Given the description of an element on the screen output the (x, y) to click on. 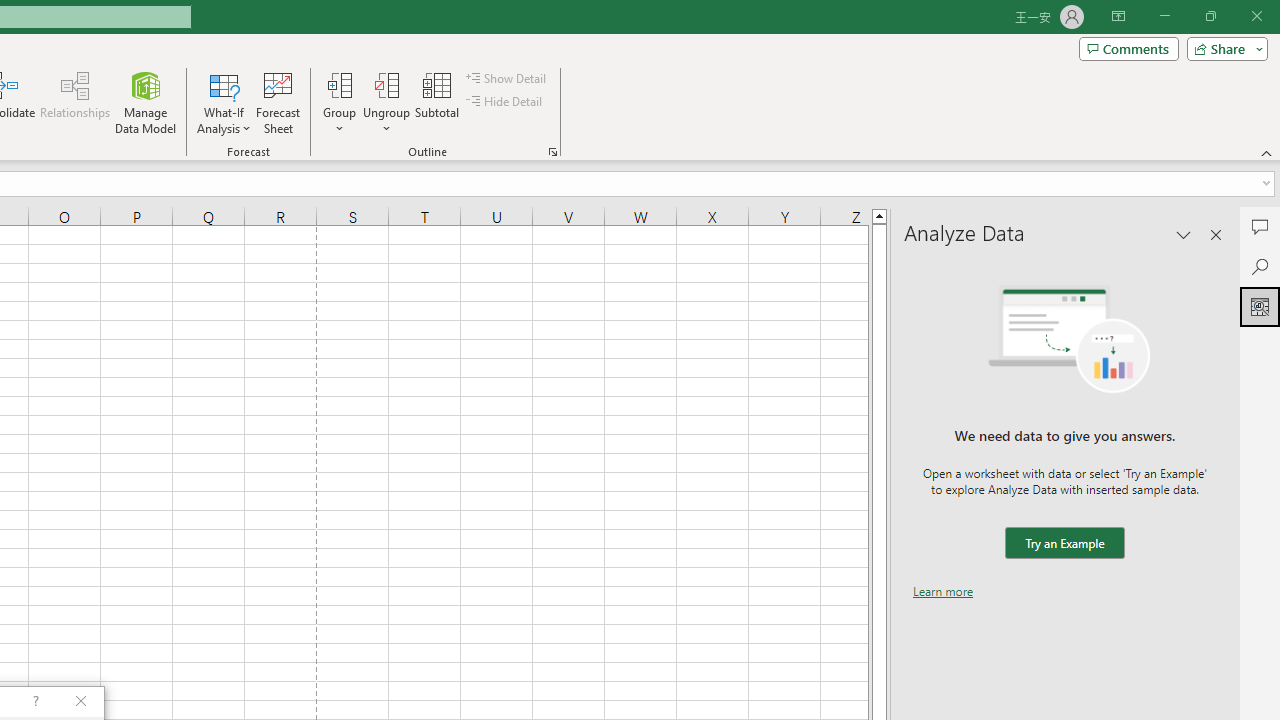
What-If Analysis (223, 102)
Ungroup... (386, 102)
We need data to give you answers. Try an Example (1064, 543)
Subtotal (437, 102)
Group... (339, 102)
Group and Outline Settings (552, 151)
Analyze Data (1260, 306)
Show Detail (507, 78)
